Given the description of an element on the screen output the (x, y) to click on. 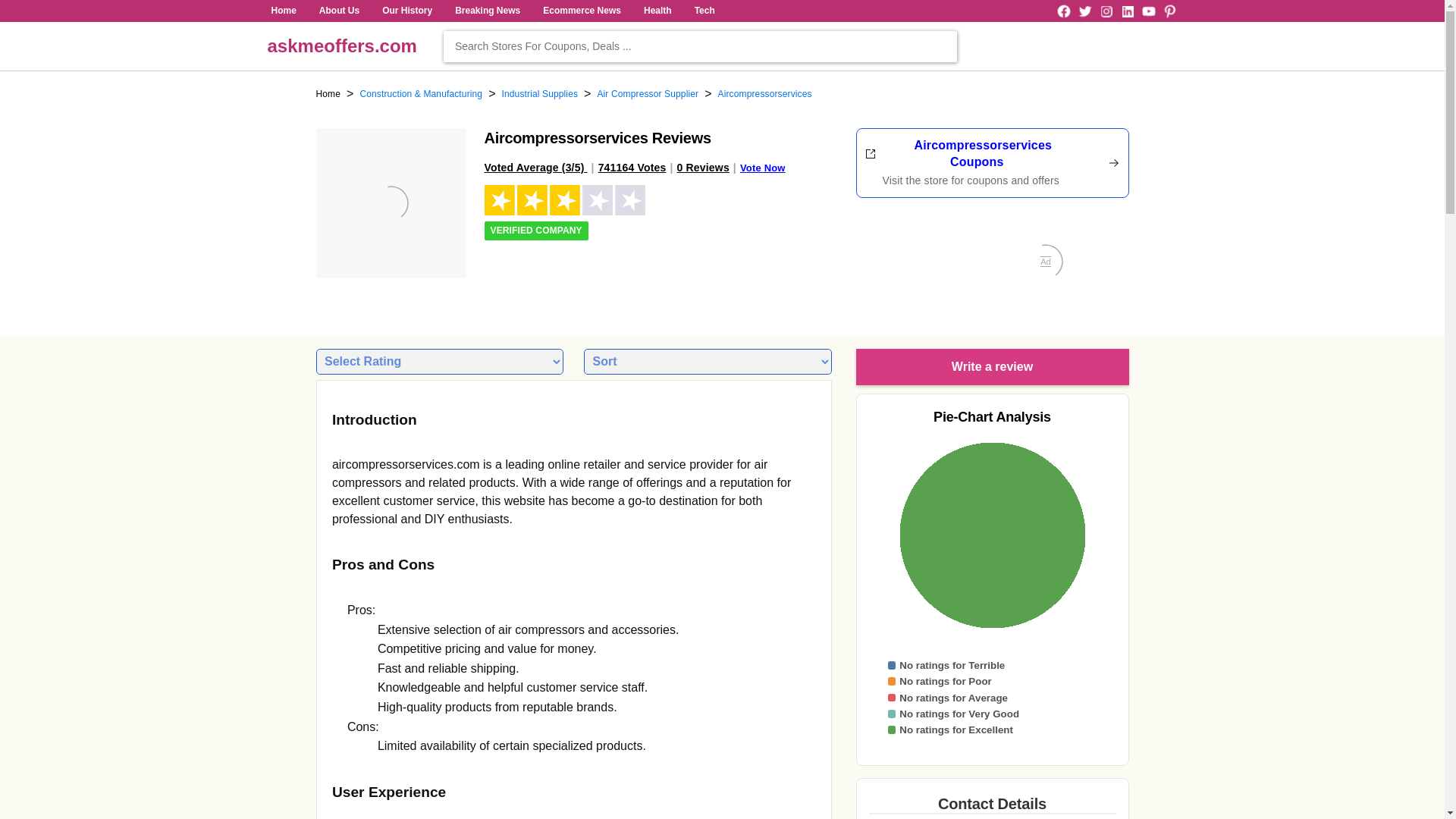
Instagram (1105, 11)
YouTube (1148, 11)
Twitter Username (1084, 11)
Breaking News (487, 10)
YouTube (1148, 11)
About Us (338, 10)
Facebook Page (1062, 11)
Our History (406, 10)
Facebook Page (1062, 11)
Home (282, 10)
Tech (704, 10)
Home (327, 93)
Home (327, 93)
Ecommerce News (581, 10)
